Given the description of an element on the screen output the (x, y) to click on. 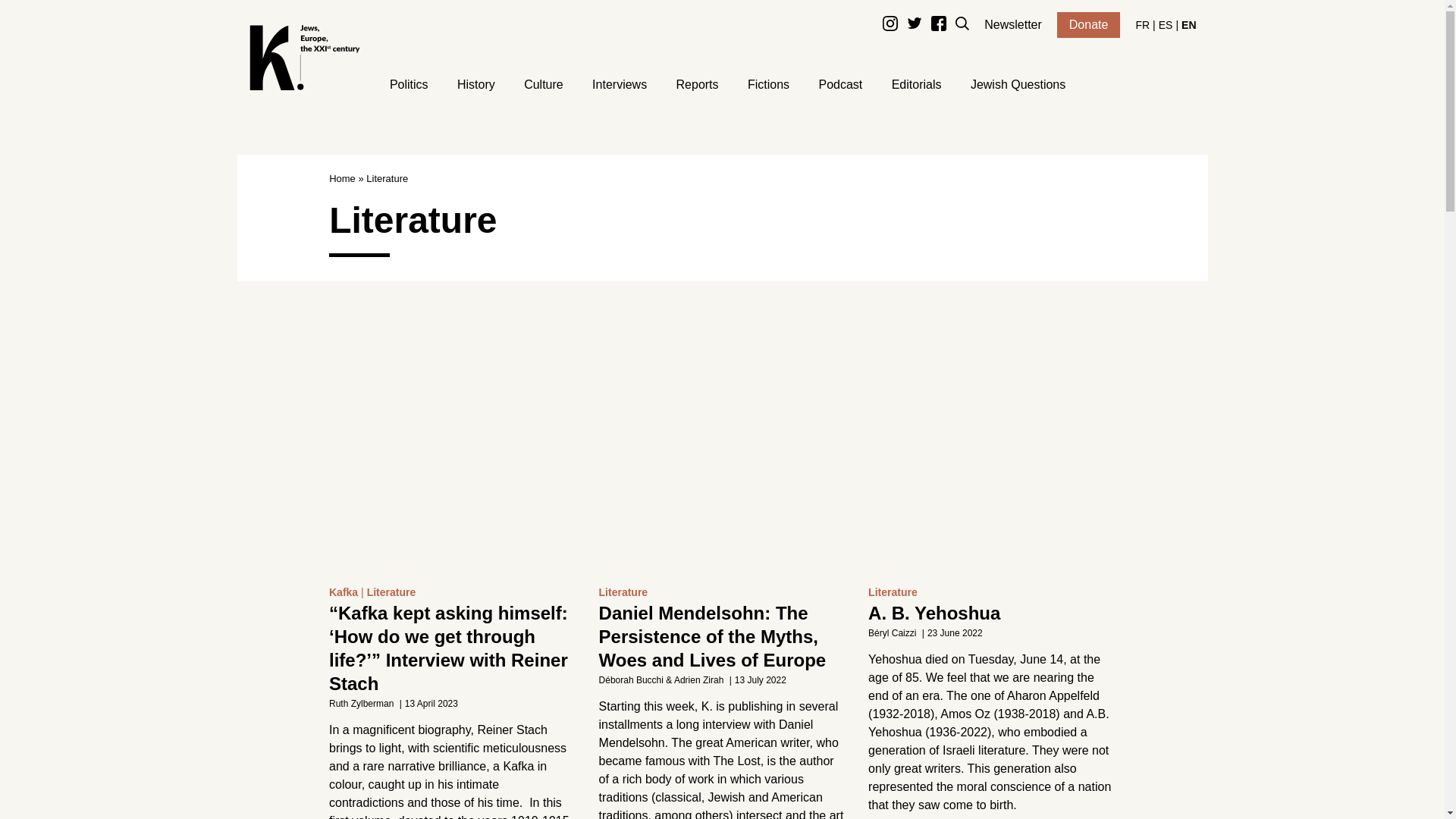
Interviews (619, 86)
Literature (392, 592)
Editorials (916, 86)
Kafka (347, 592)
Fictions (768, 86)
Jewish Questions (1018, 86)
Literature (624, 592)
A. B. Yehoshua (933, 612)
twitter (914, 26)
ES (1165, 24)
facebook (938, 26)
Podcast (839, 86)
Home (342, 178)
Donate (1089, 24)
Ruth Zylberman (361, 703)
